Given the description of an element on the screen output the (x, y) to click on. 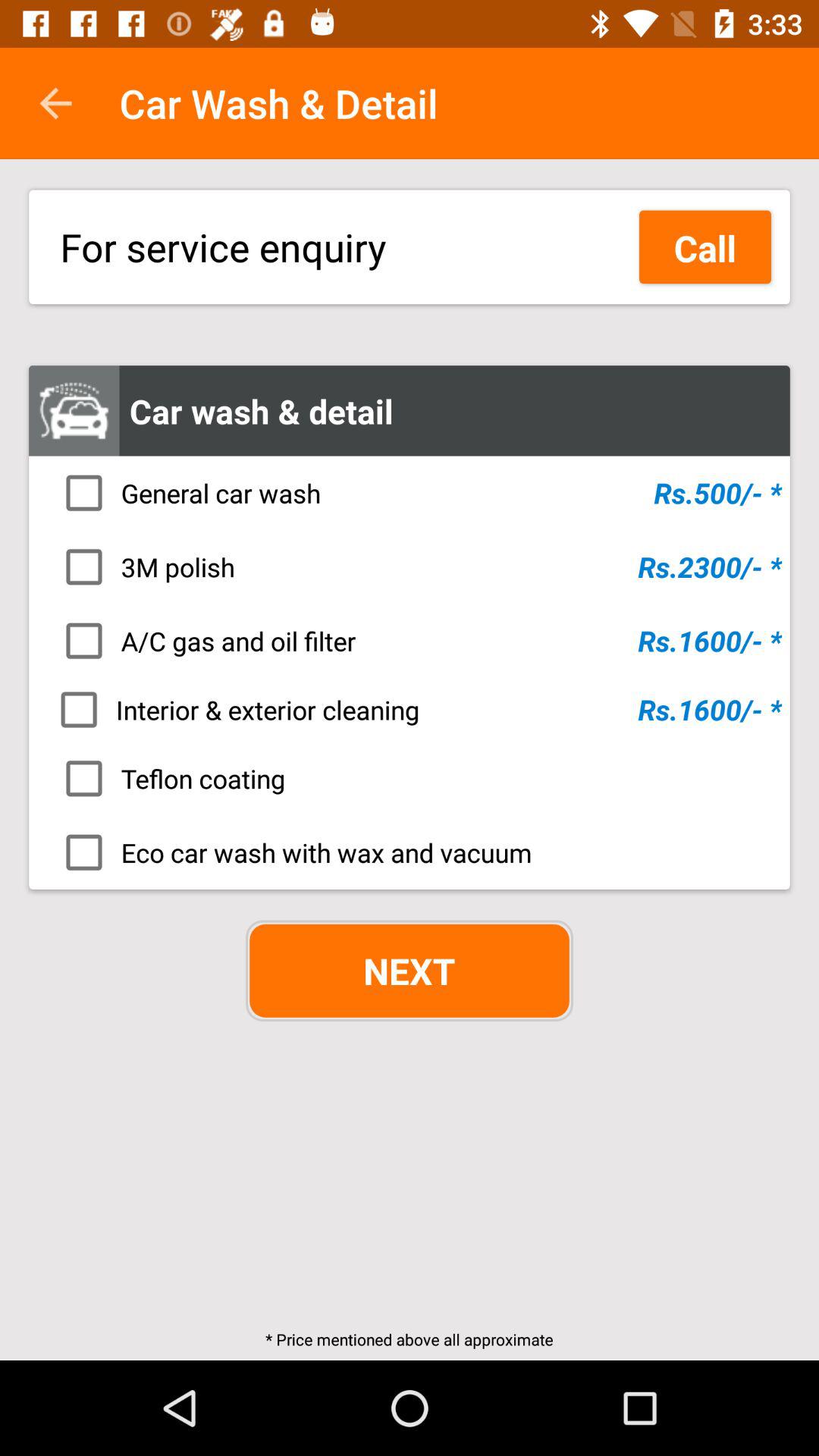
select a c gas item (414, 640)
